Given the description of an element on the screen output the (x, y) to click on. 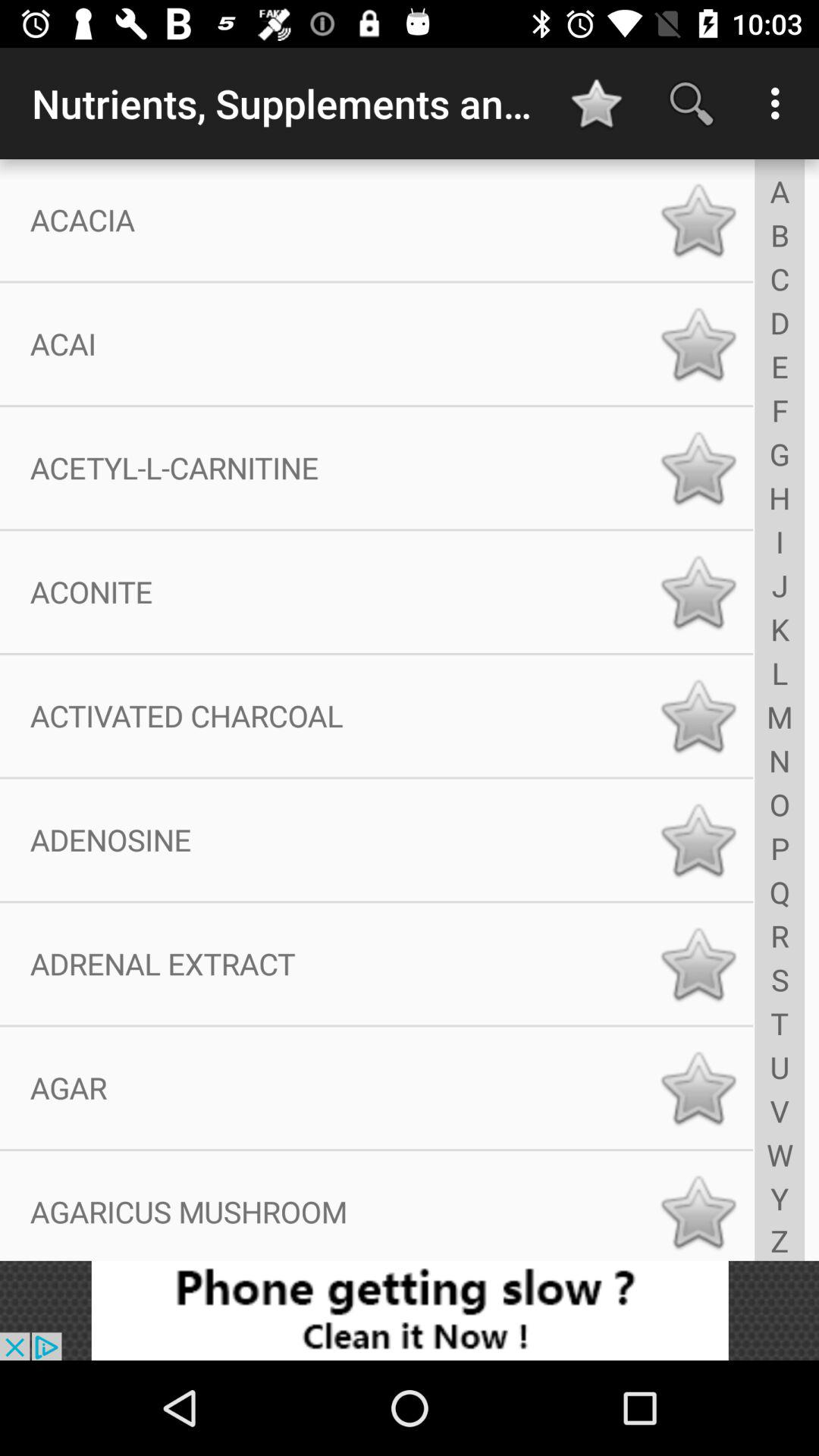
star (697, 592)
